Given the description of an element on the screen output the (x, y) to click on. 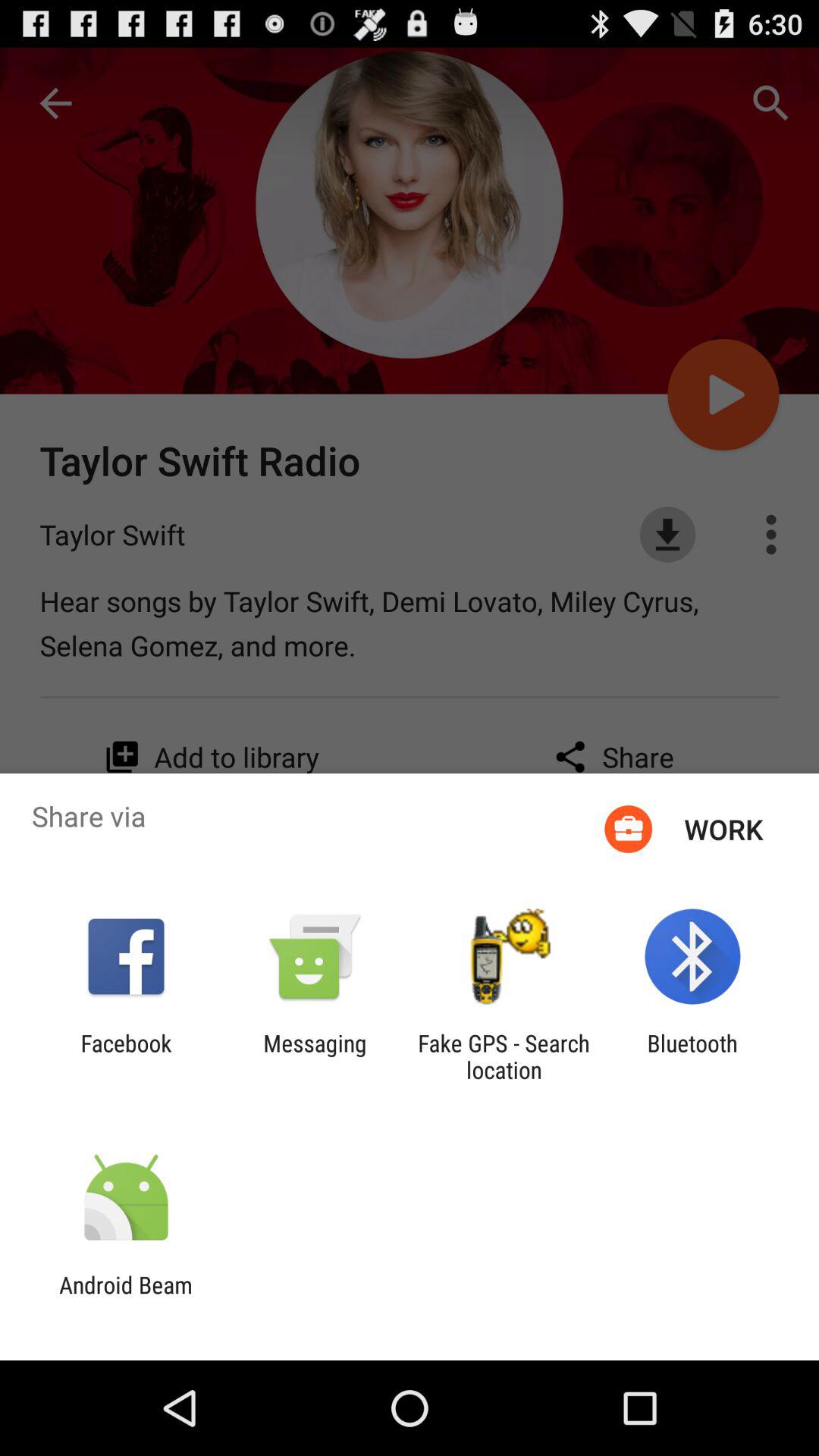
press facebook (125, 1056)
